Given the description of an element on the screen output the (x, y) to click on. 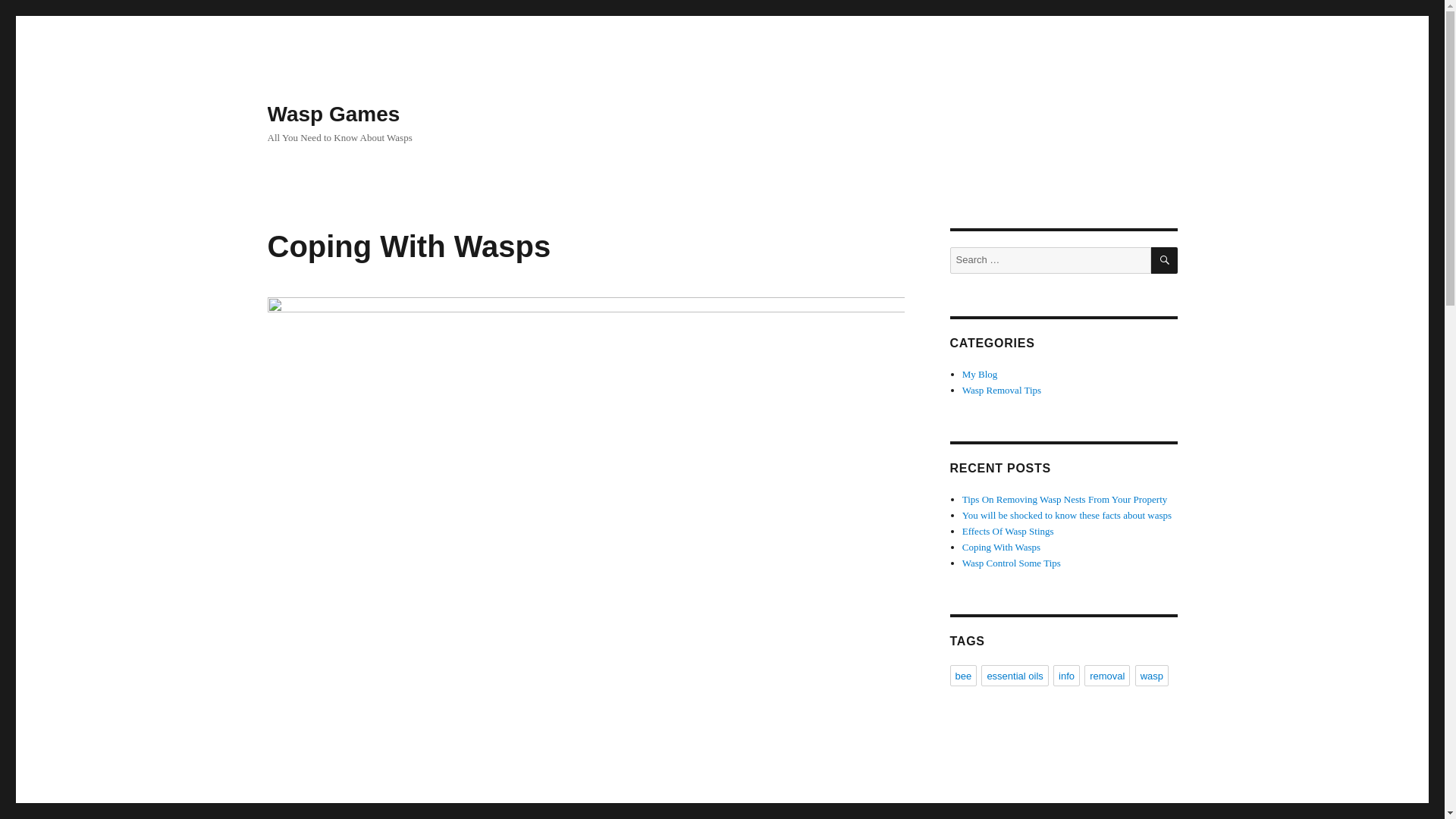
Wasp Removal Tips (1001, 389)
wasp (1152, 675)
You will be shocked to know these facts about wasps (1067, 514)
essential oils (1014, 675)
removal (1106, 675)
Effects Of Wasp Stings (1008, 531)
Coping With Wasps (1001, 546)
Wasp Control Some Tips (1011, 562)
Wasp Games (332, 114)
My Blog (979, 374)
